Given the description of an element on the screen output the (x, y) to click on. 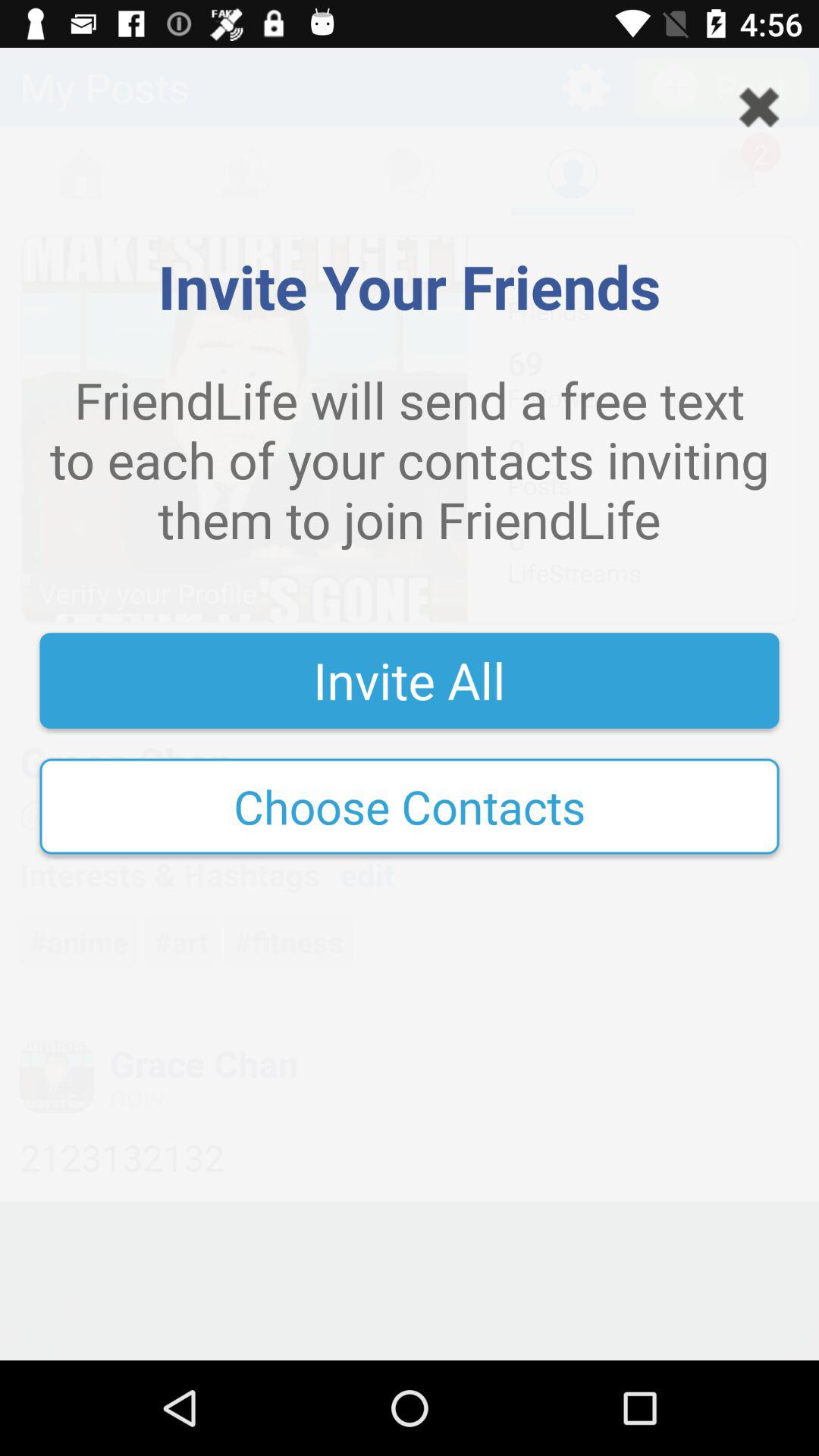
close the page (759, 107)
